Given the description of an element on the screen output the (x, y) to click on. 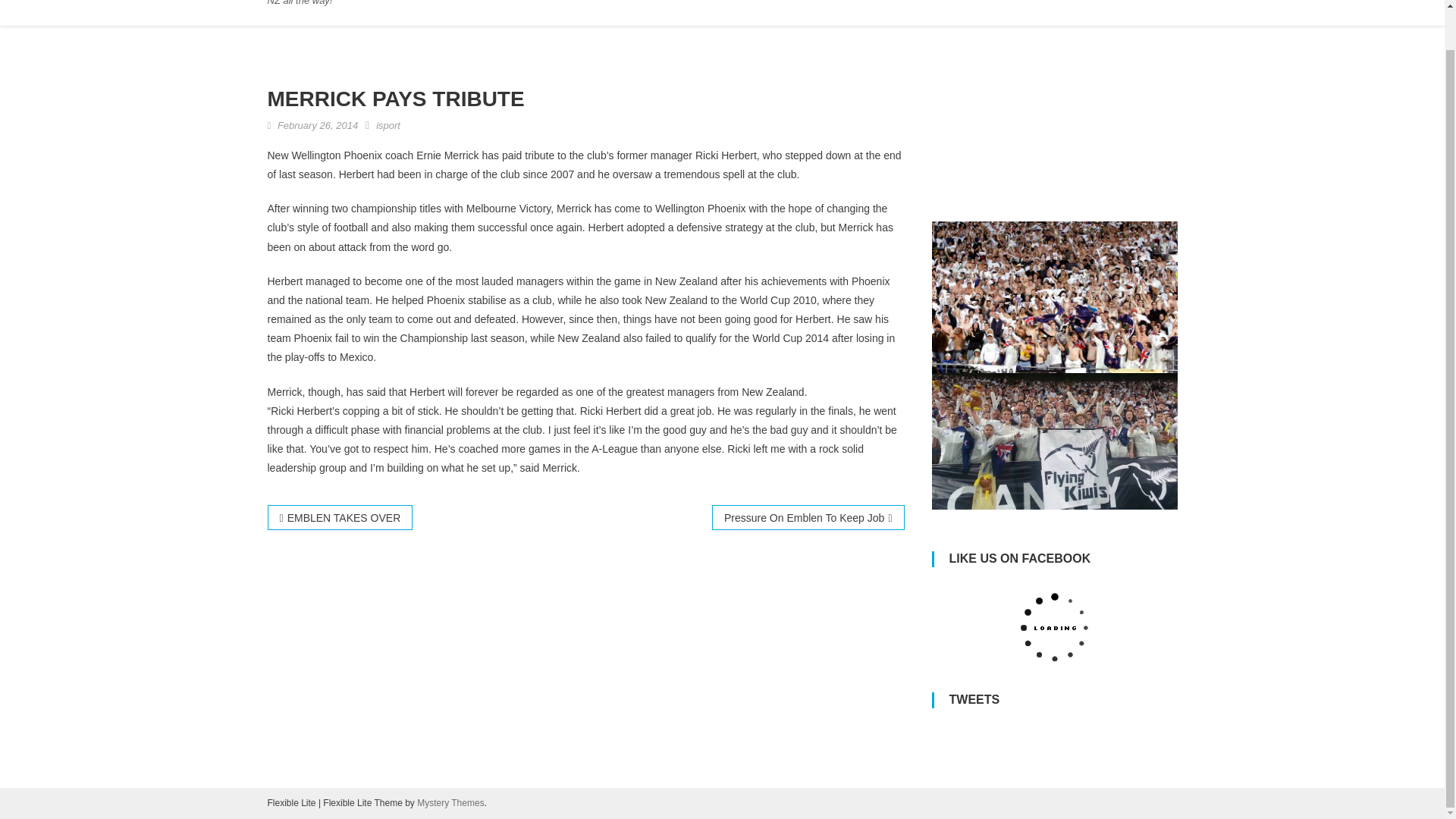
Send A Message To The Team (1072, 5)
isport (387, 125)
Mystery Themes (449, 802)
All Whites Fans Needed (720, 5)
February 26, 2014 (318, 125)
Pressure On Emblen To Keep Job (807, 517)
EMBLEN TAKES OVER (339, 517)
